Given the description of an element on the screen output the (x, y) to click on. 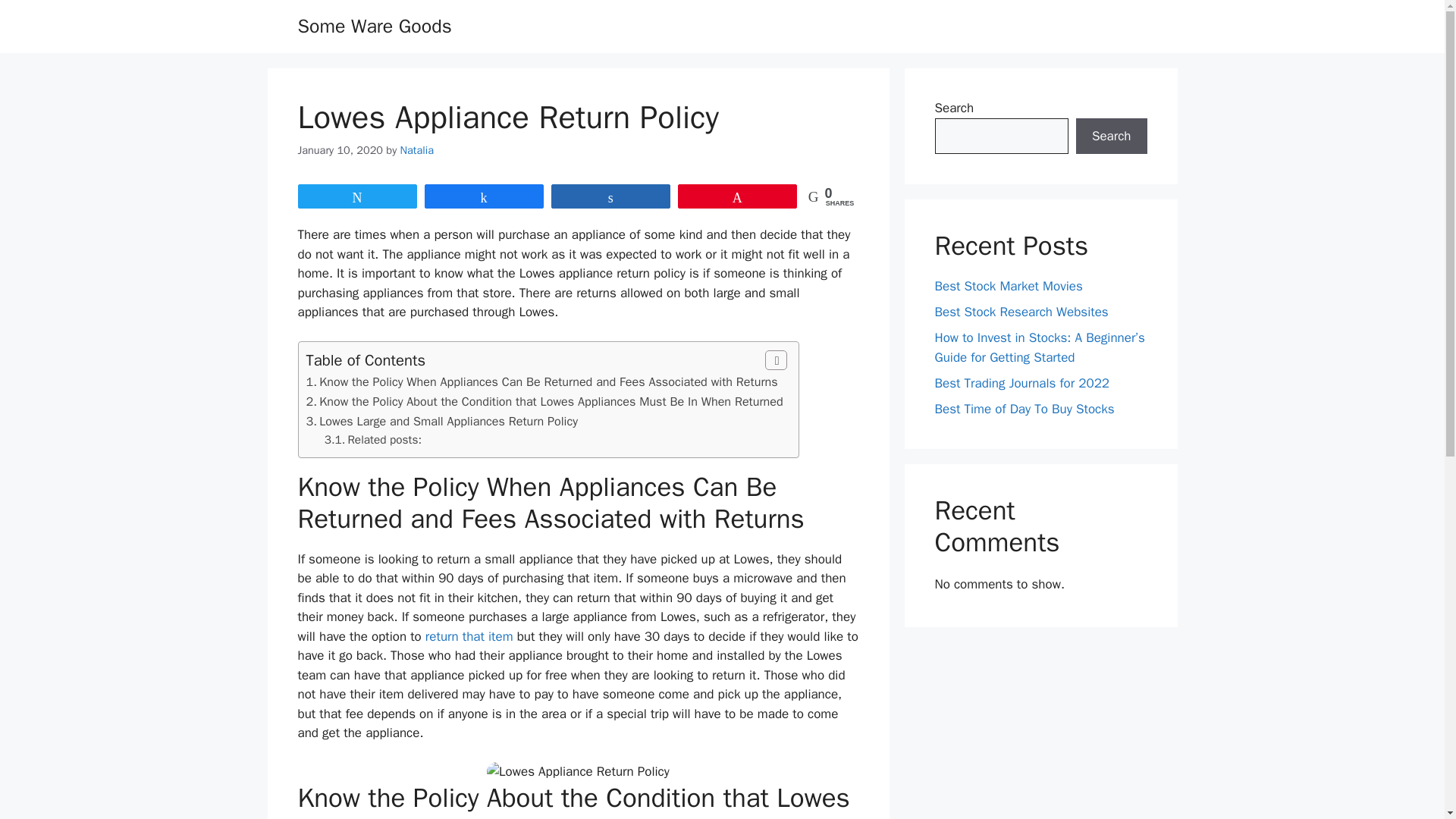
Some Ware Goods (374, 25)
Best Time of Day To Buy Stocks (1023, 408)
Related posts: (384, 439)
Related posts: (384, 439)
return that item (469, 636)
Search (1111, 135)
Natalia (416, 150)
Lowes Large and Small Appliances Return Policy (448, 421)
View all posts by Natalia (416, 150)
Best Trading Journals for 2022 (1021, 382)
Best Stock Research Websites (1021, 311)
